Given the description of an element on the screen output the (x, y) to click on. 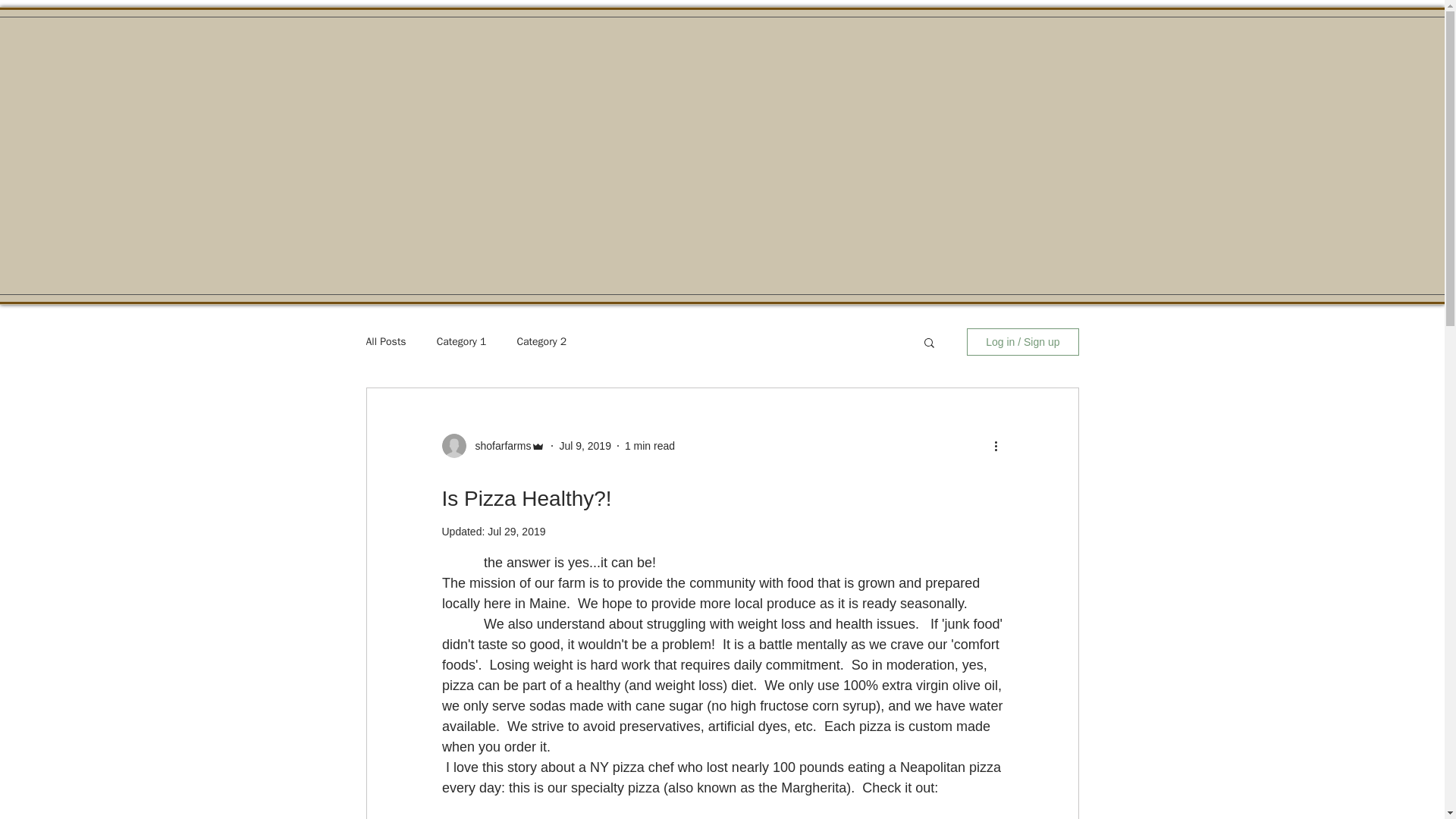
Jul 29, 2019 (515, 531)
Category 1 (461, 341)
1 min read (649, 445)
Jul 9, 2019 (585, 445)
All Posts (385, 341)
shofarfarms (498, 446)
Category 2 (541, 341)
